Given the description of an element on the screen output the (x, y) to click on. 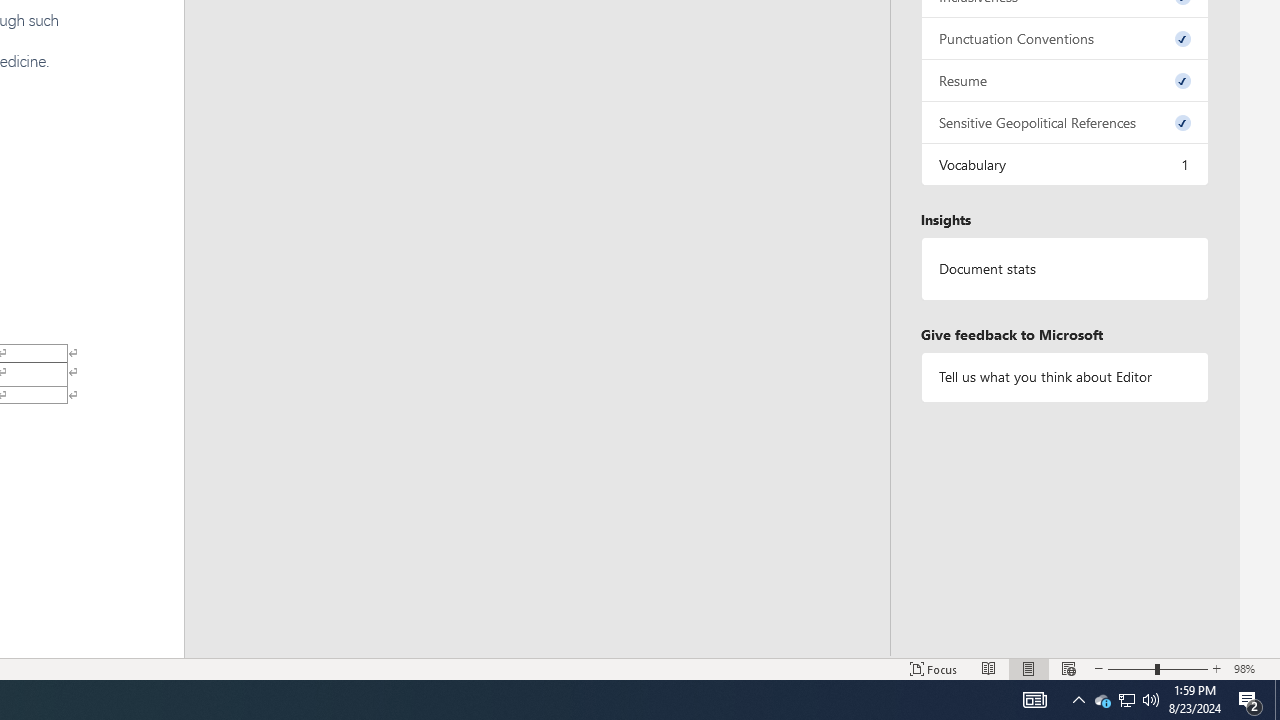
Document statistics (1064, 269)
Resume, 0 issues. Press space or enter to review items. (1064, 79)
